Given the description of an element on the screen output the (x, y) to click on. 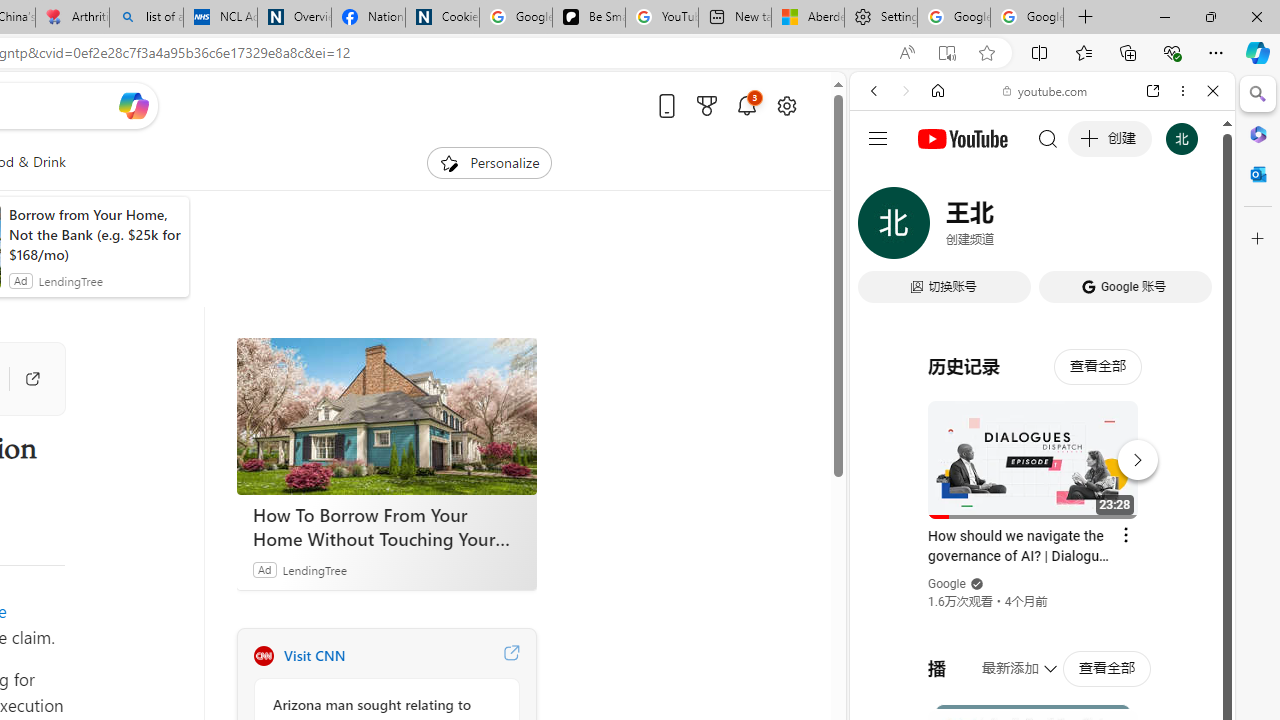
How To Borrow From Your Home Without Touching Your Mortgage (386, 416)
Read aloud this page (Ctrl+Shift+U) (906, 53)
Home (938, 91)
Trailer #2 [HD] (1042, 592)
IMAGES (939, 228)
#you (1042, 445)
Settings (880, 17)
Search Filter, VIDEOS (1006, 228)
Open link in new tab (1153, 91)
